Given the description of an element on the screen output the (x, y) to click on. 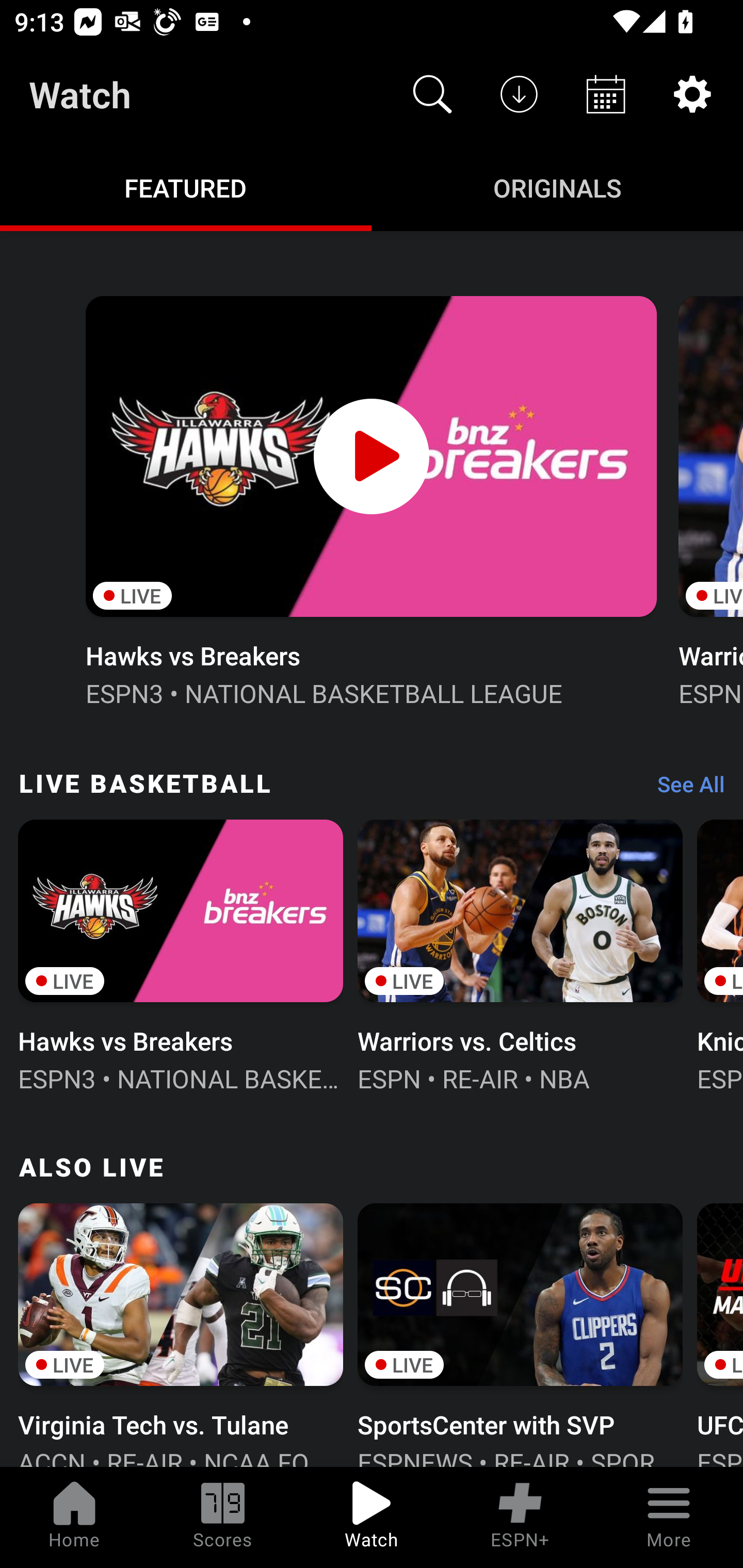
Search (432, 93)
Downloads (518, 93)
Schedule (605, 93)
Settings (692, 93)
Originals ORIGINALS (557, 187)
See All (683, 788)
LIVE Warriors vs. Celtics ESPN • RE-AIR • NBA (519, 954)
Home (74, 1517)
Scores (222, 1517)
ESPN+ (519, 1517)
More (668, 1517)
